Given the description of an element on the screen output the (x, y) to click on. 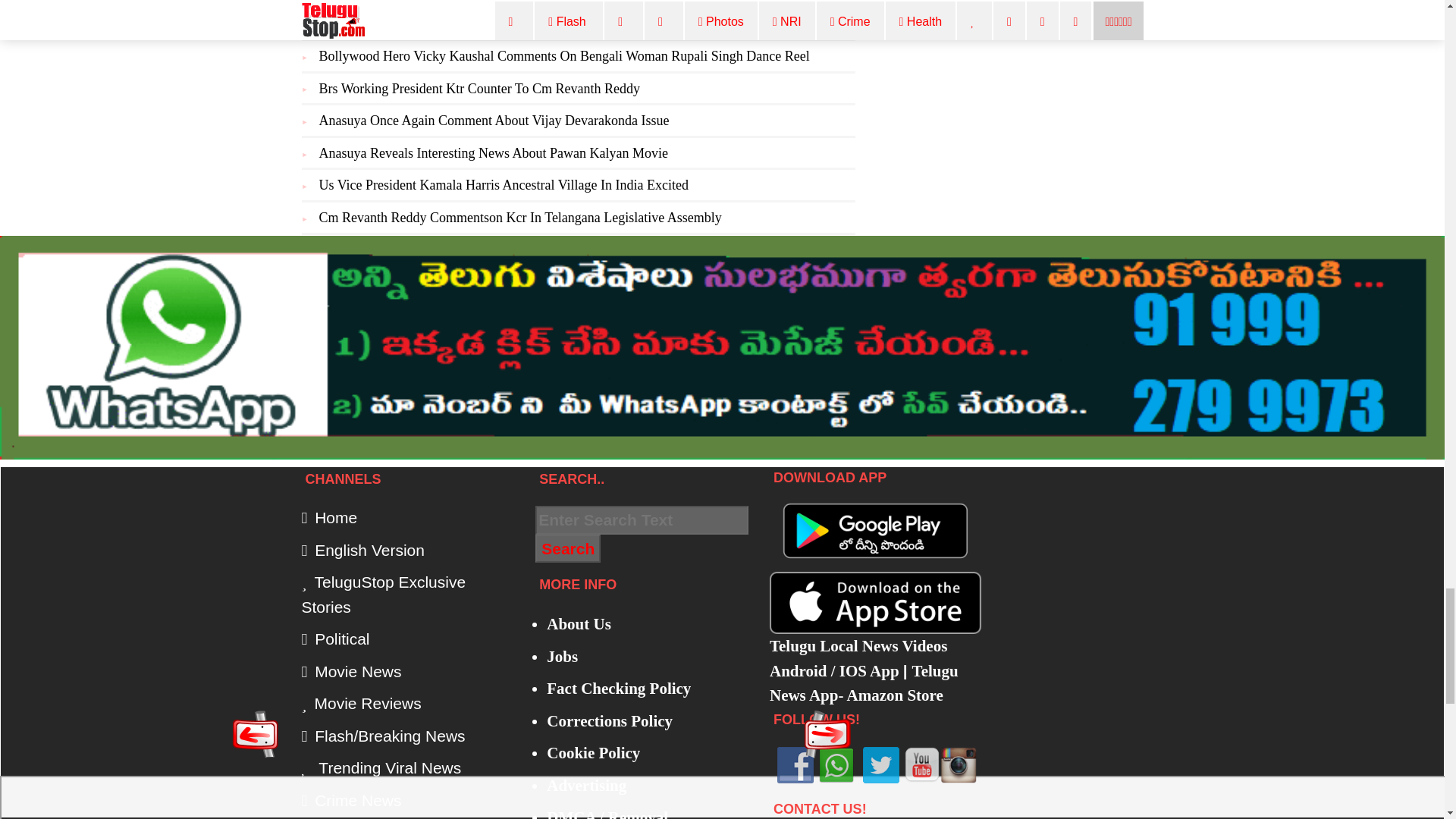
Search (567, 548)
